Given the description of an element on the screen output the (x, y) to click on. 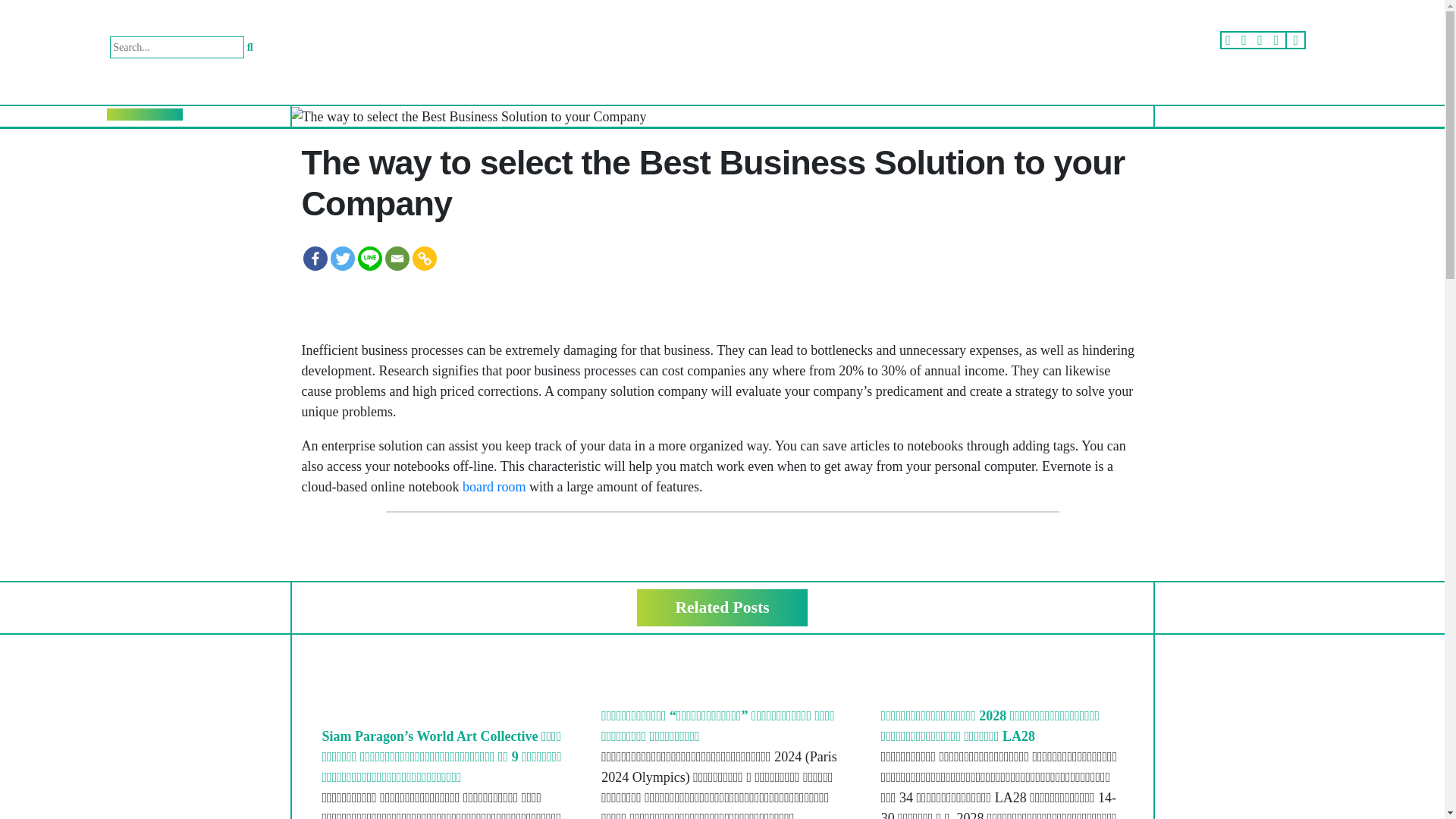
Line (369, 258)
Copy Link (424, 258)
Twitter (342, 258)
board room (494, 486)
Email (397, 258)
Facebook (314, 258)
